Given the description of an element on the screen output the (x, y) to click on. 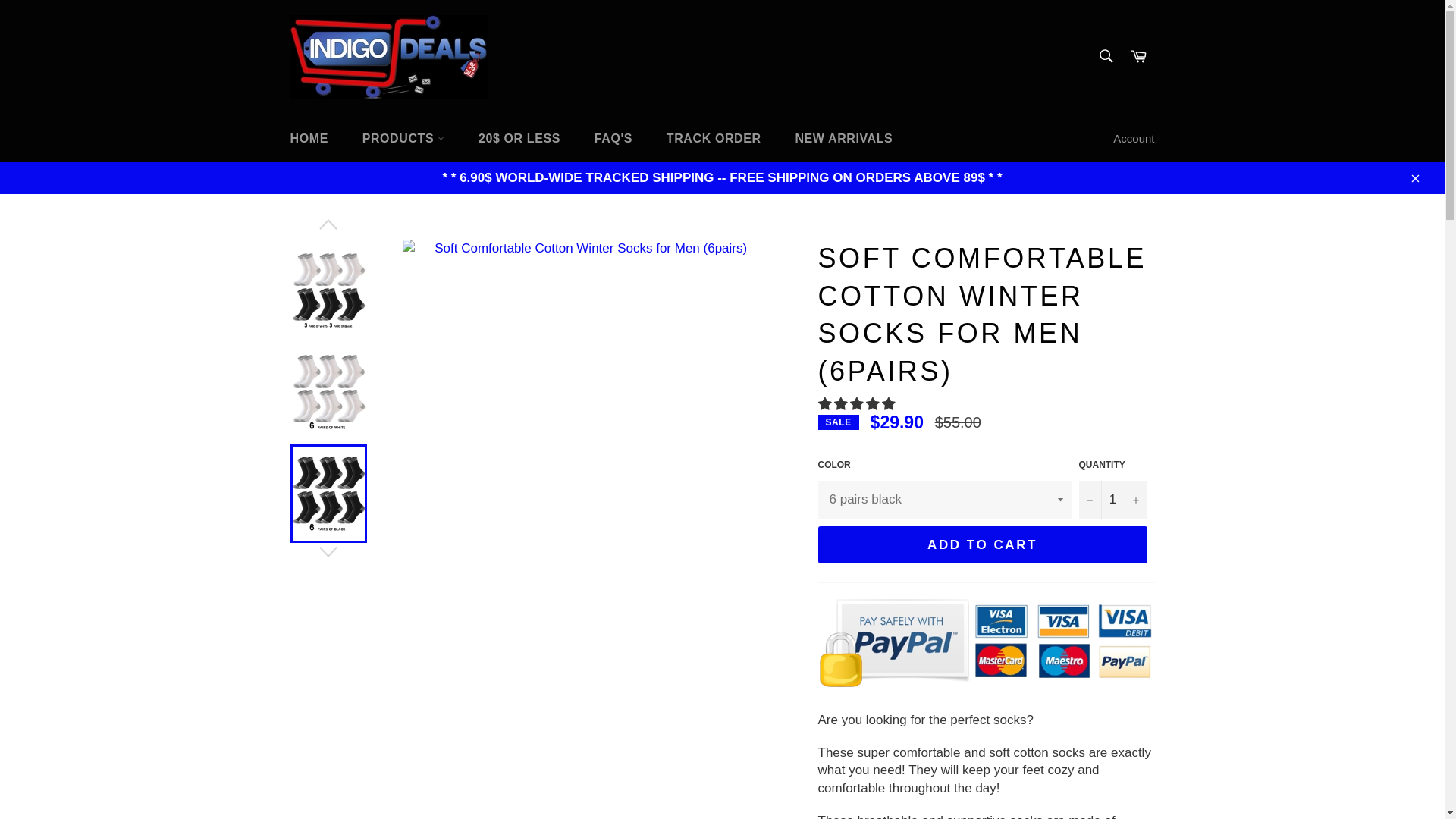
HOME (308, 138)
PRODUCTS (403, 138)
Cart (1138, 57)
Search (1104, 56)
1 (1112, 498)
